Given the description of an element on the screen output the (x, y) to click on. 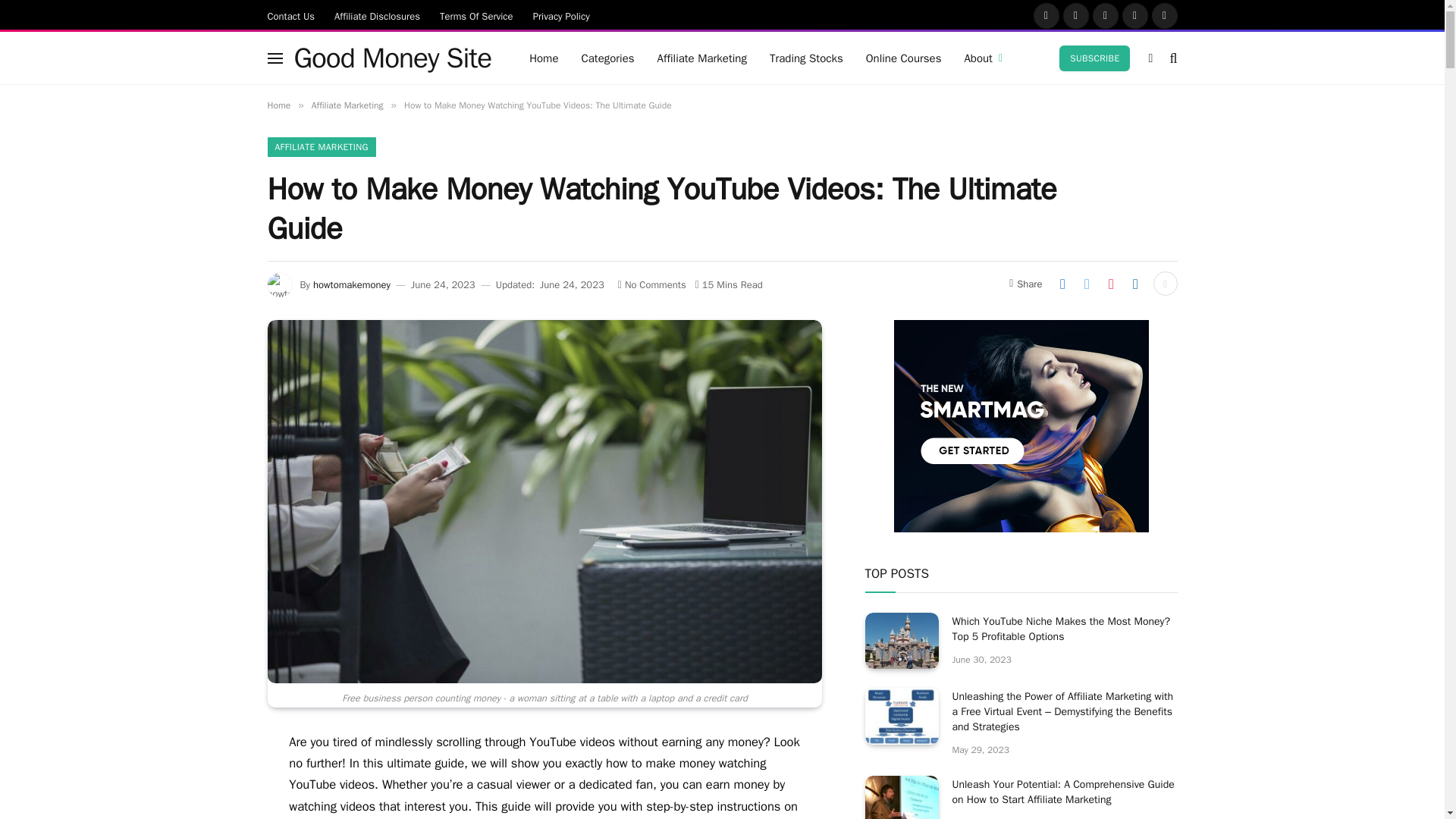
Privacy Policy (560, 15)
Terms Of Service (475, 15)
Categories (607, 57)
Posts by howtomakemoney (351, 284)
Share on Facebook (1062, 283)
Vimeo (1163, 15)
Home (543, 57)
Trading Stocks (806, 57)
Switch to Dark Design - easier on eyes. (1149, 57)
Online Courses (903, 57)
Share on LinkedIn (1135, 283)
SUBSCRIBE (1094, 58)
Good Money Site (393, 57)
Contact Us (290, 15)
Pinterest (1135, 15)
